Given the description of an element on the screen output the (x, y) to click on. 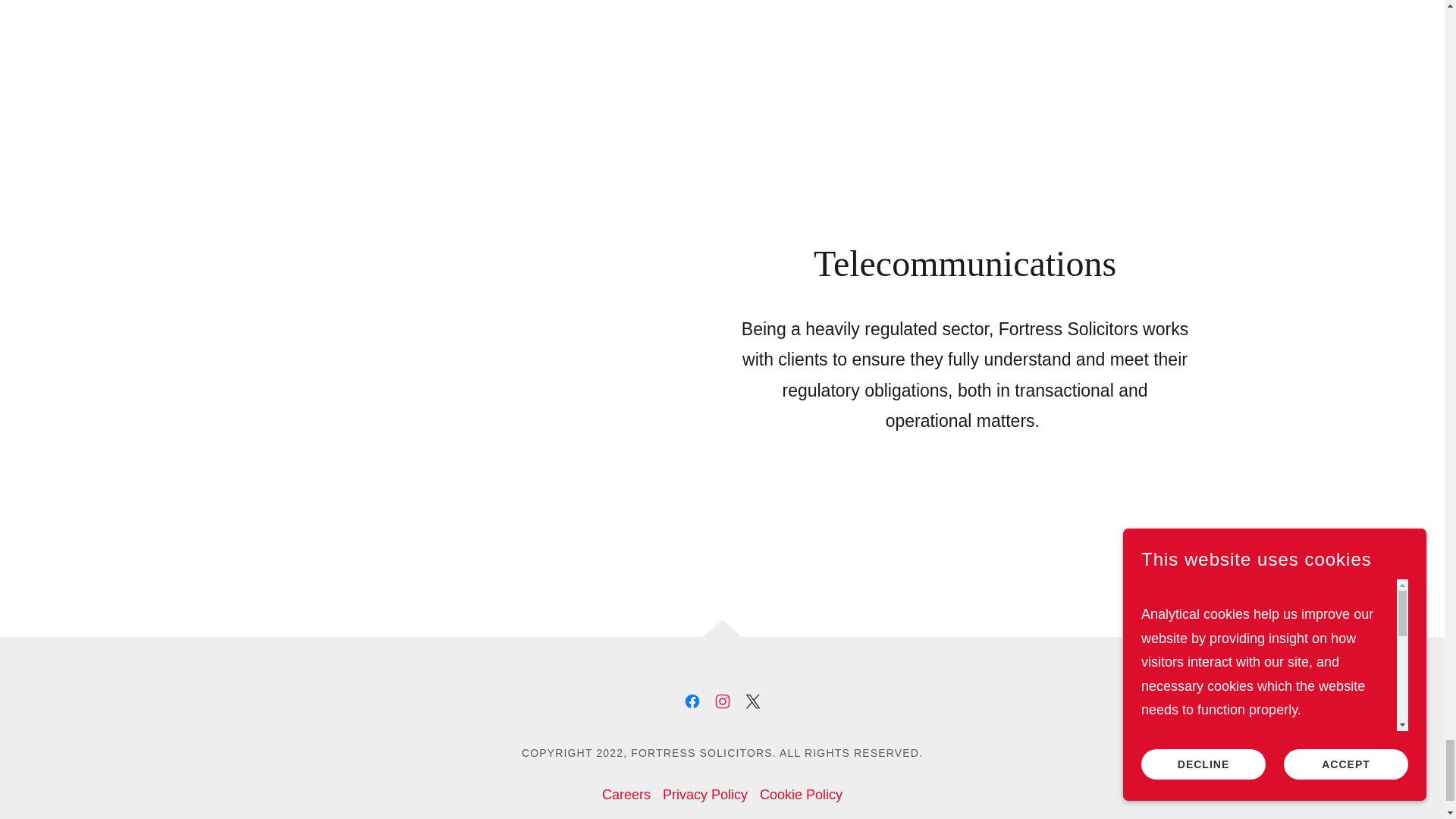
Cookie Policy (801, 794)
Careers (625, 794)
Privacy Policy (705, 794)
